Given the description of an element on the screen output the (x, y) to click on. 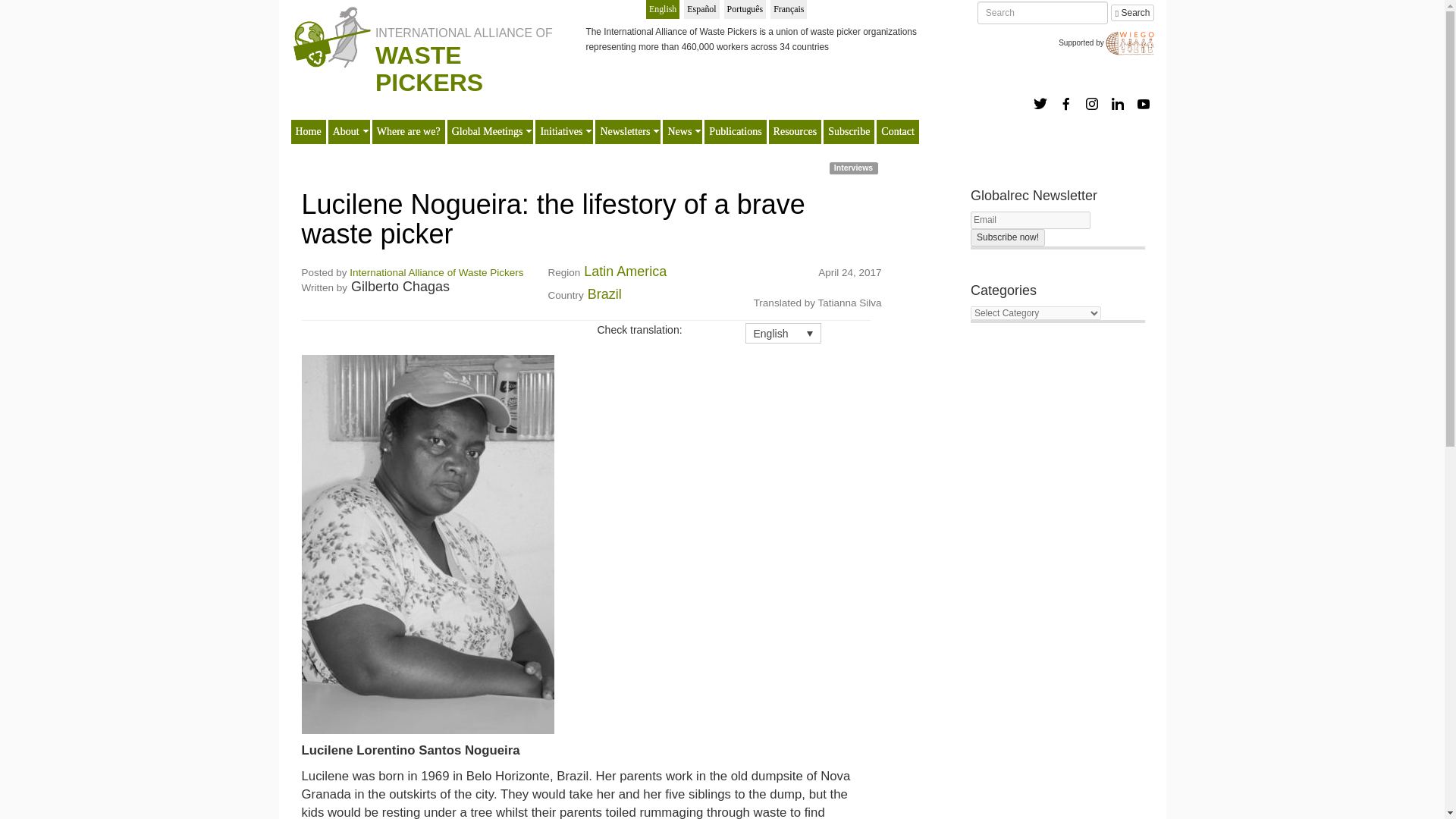
WIEGO (1129, 42)
About (345, 131)
Search (1132, 12)
Posts by International Alliance of Waste Pickers (435, 272)
YouTube International Alliance of Waste Pickers (1143, 102)
LinkedIn International Alliance of Waste Pickers (1117, 102)
Instagram International Alliance of Waste Pickers (1091, 102)
News (679, 131)
Initiatives (560, 131)
Facebook International Alliance of Waste Pickers (1066, 102)
